Given the description of an element on the screen output the (x, y) to click on. 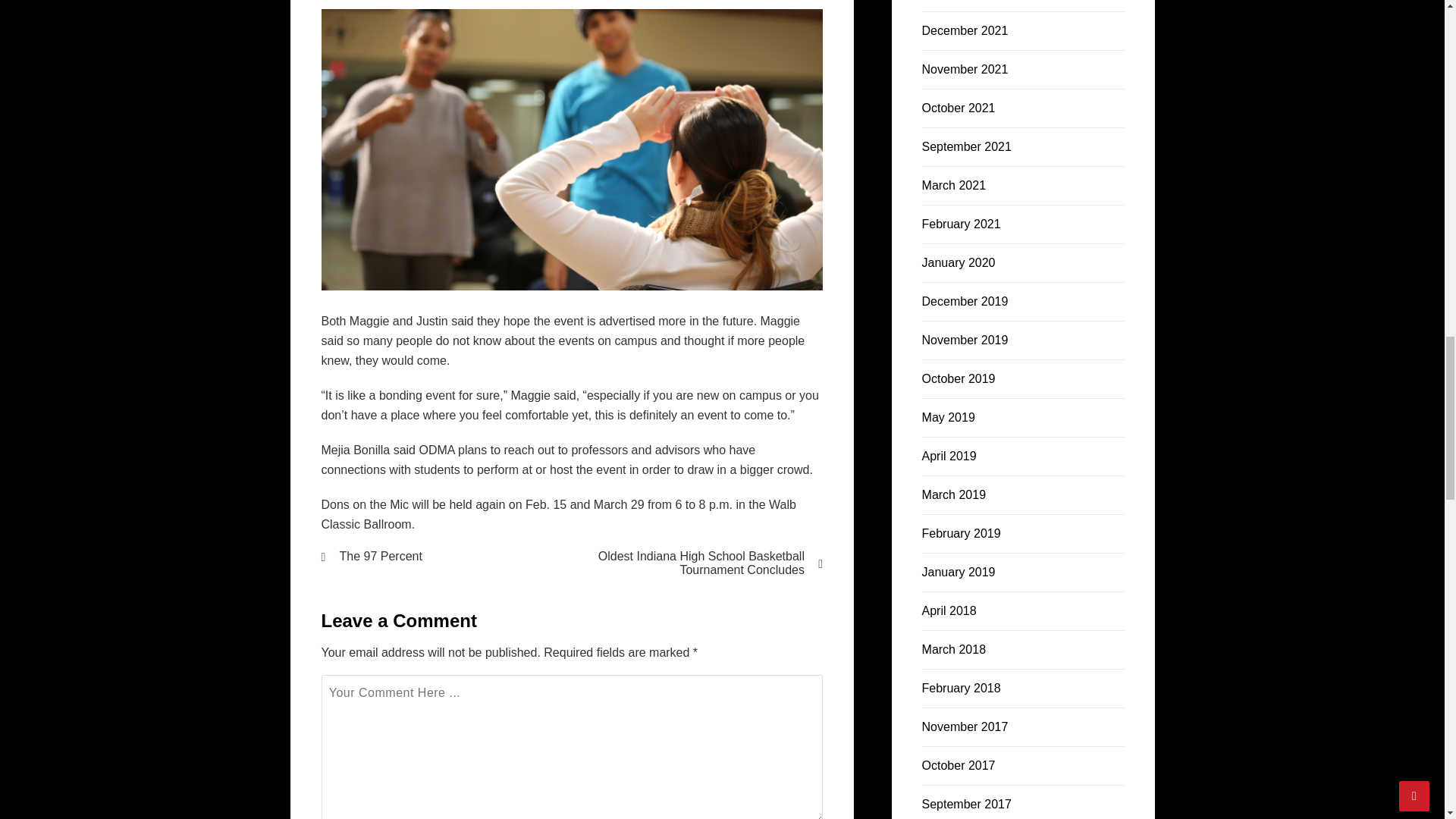
The 97 Percent (436, 556)
Oldest Indiana High School Basketball Tournament Concludes (707, 563)
